Given the description of an element on the screen output the (x, y) to click on. 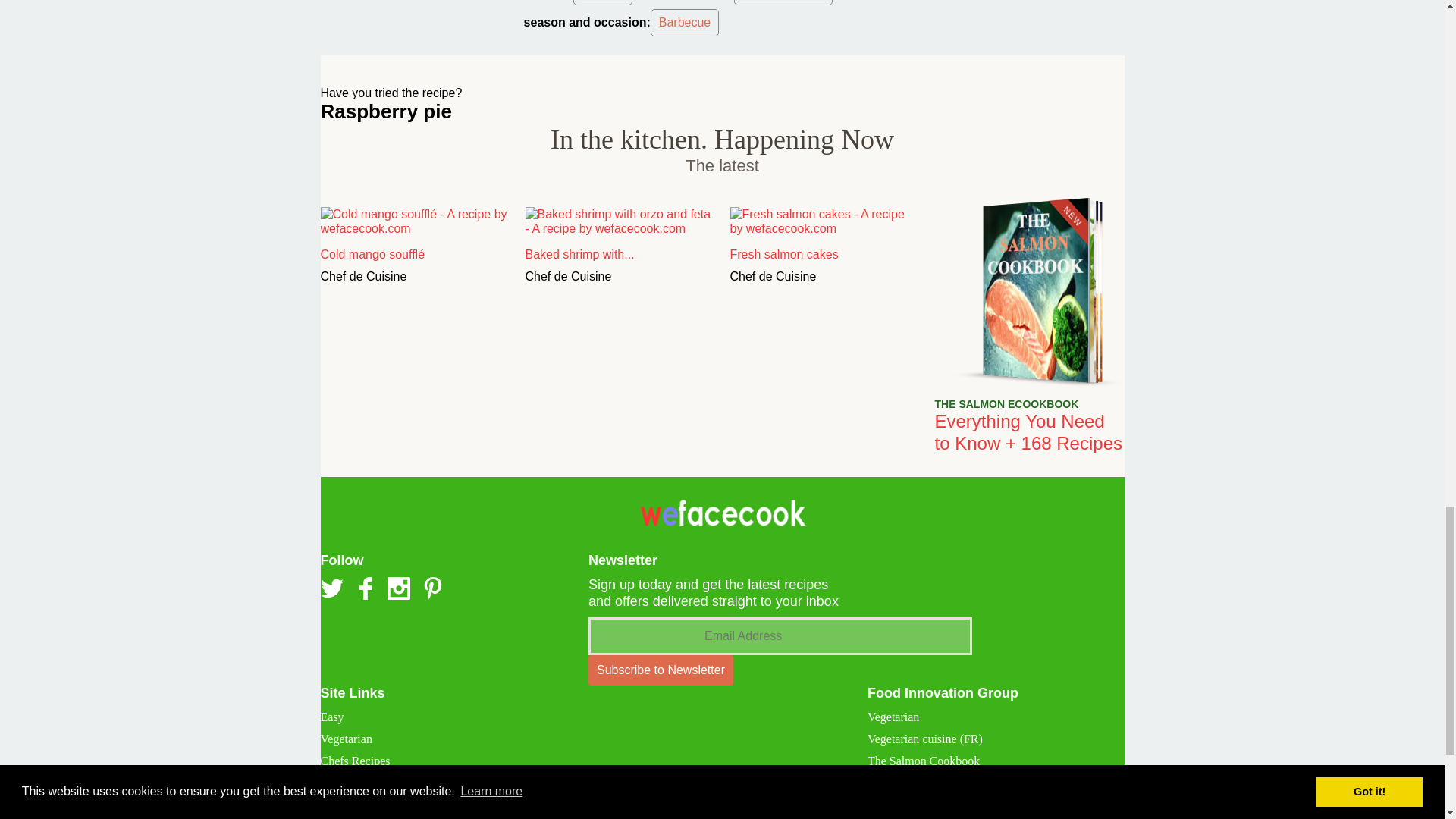
Subscribe to Newsletter (660, 670)
